Given the description of an element on the screen output the (x, y) to click on. 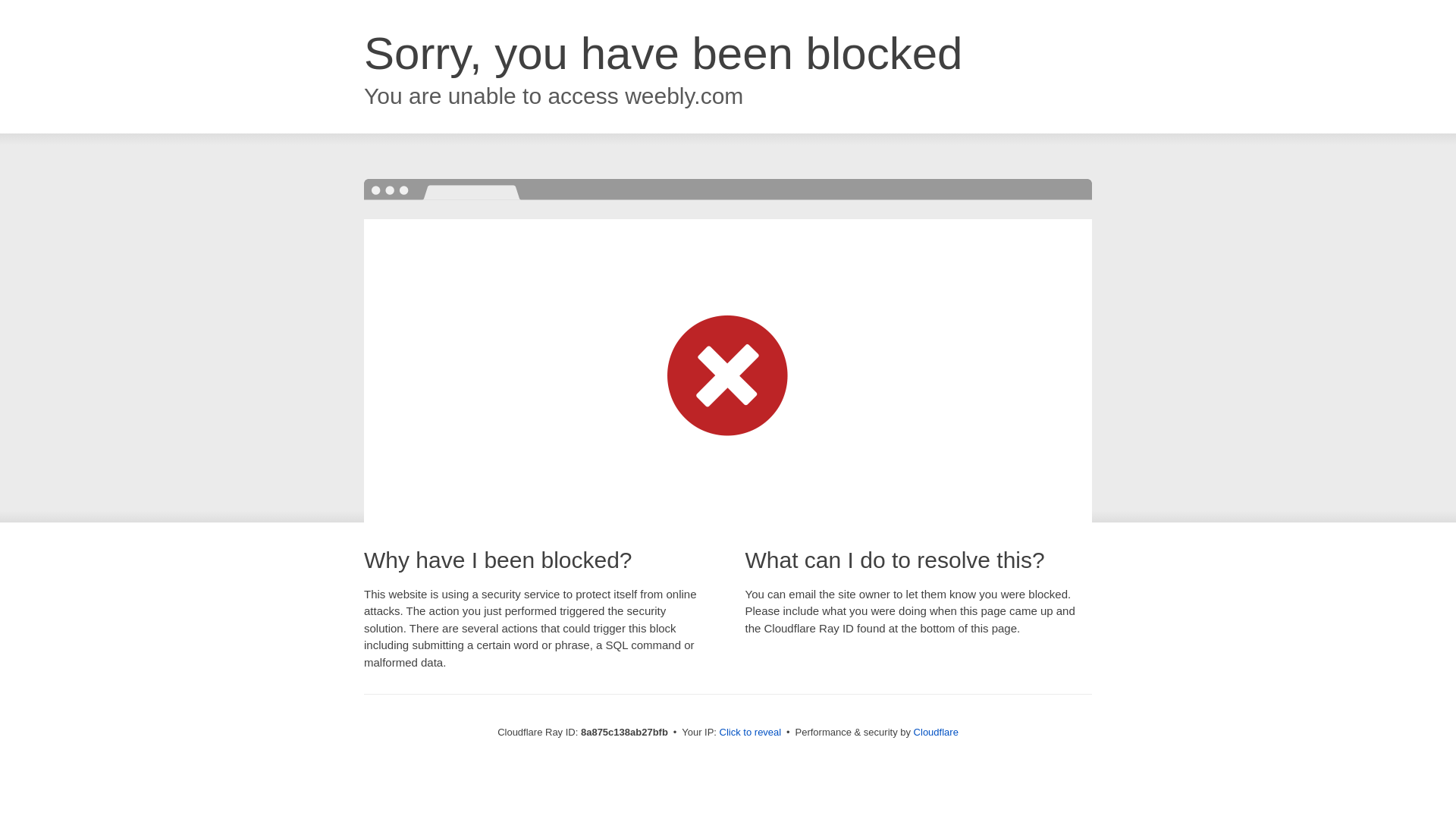
Click to reveal (750, 732)
Cloudflare (936, 731)
